Given the description of an element on the screen output the (x, y) to click on. 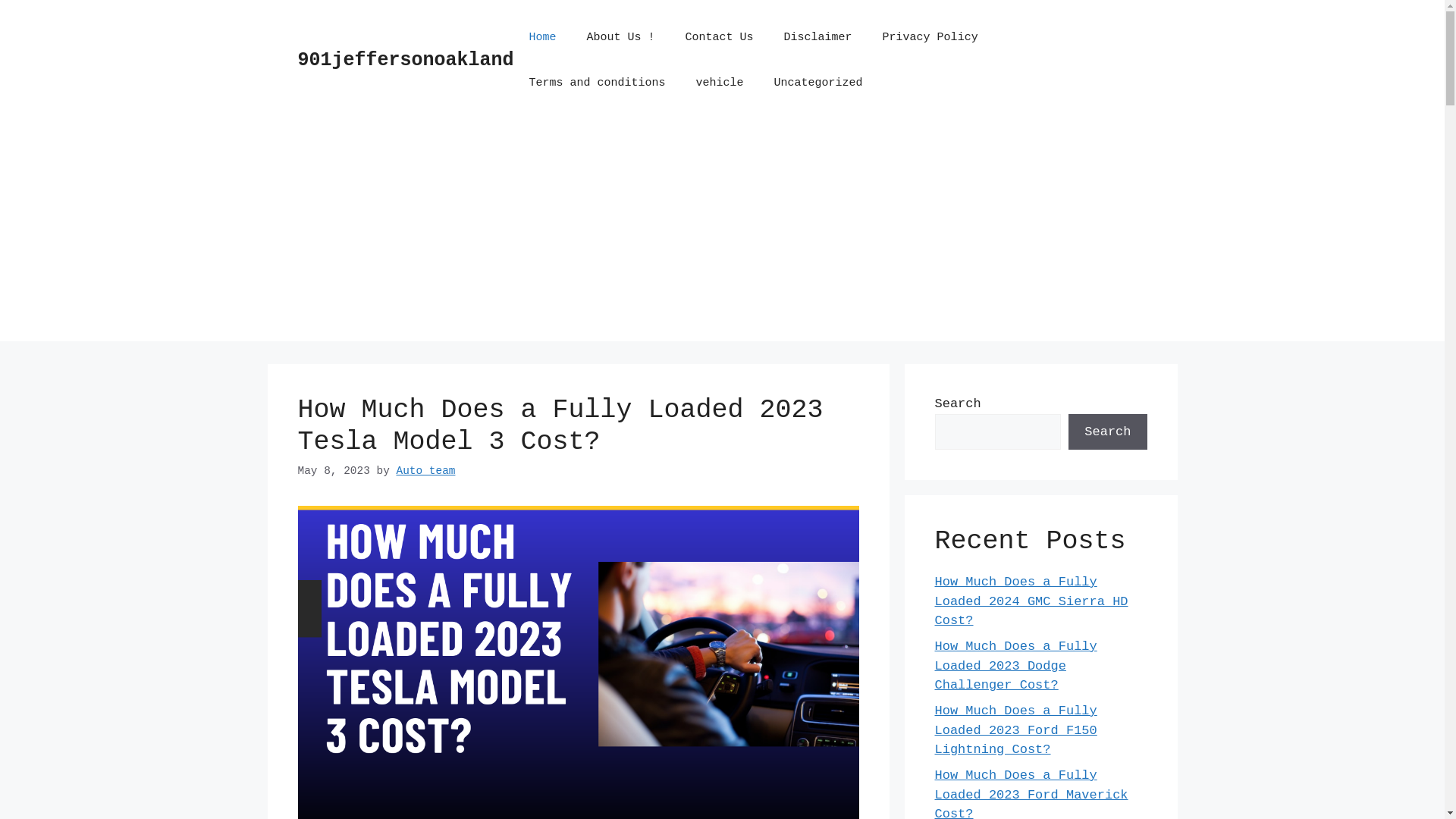
Contact Us Element type: text (719, 37)
Privacy Policy Element type: text (930, 37)
Disclaimer Element type: text (817, 37)
How Much Does a Fully Loaded 2024 GMC Sierra HD Cost? Element type: text (1030, 600)
Home Element type: text (542, 37)
Search Element type: text (1107, 432)
901jeffersonoakland Element type: text (405, 60)
About Us ! Element type: text (620, 37)
Advertisement Element type: hover (721, 234)
How Much Does a Fully Loaded 2023 Dodge Challenger Cost? Element type: text (1015, 665)
How Much Does a Fully Loaded 2023 Ford F150 Lightning Cost? Element type: text (1015, 729)
Auto team Element type: text (425, 470)
Uncategorized Element type: text (818, 83)
vehicle Element type: text (719, 83)
How Much Does a Fully Loaded 2023 Tesla Model 3 Cost? Element type: text (559, 426)
Terms and conditions Element type: text (597, 83)
